Given the description of an element on the screen output the (x, y) to click on. 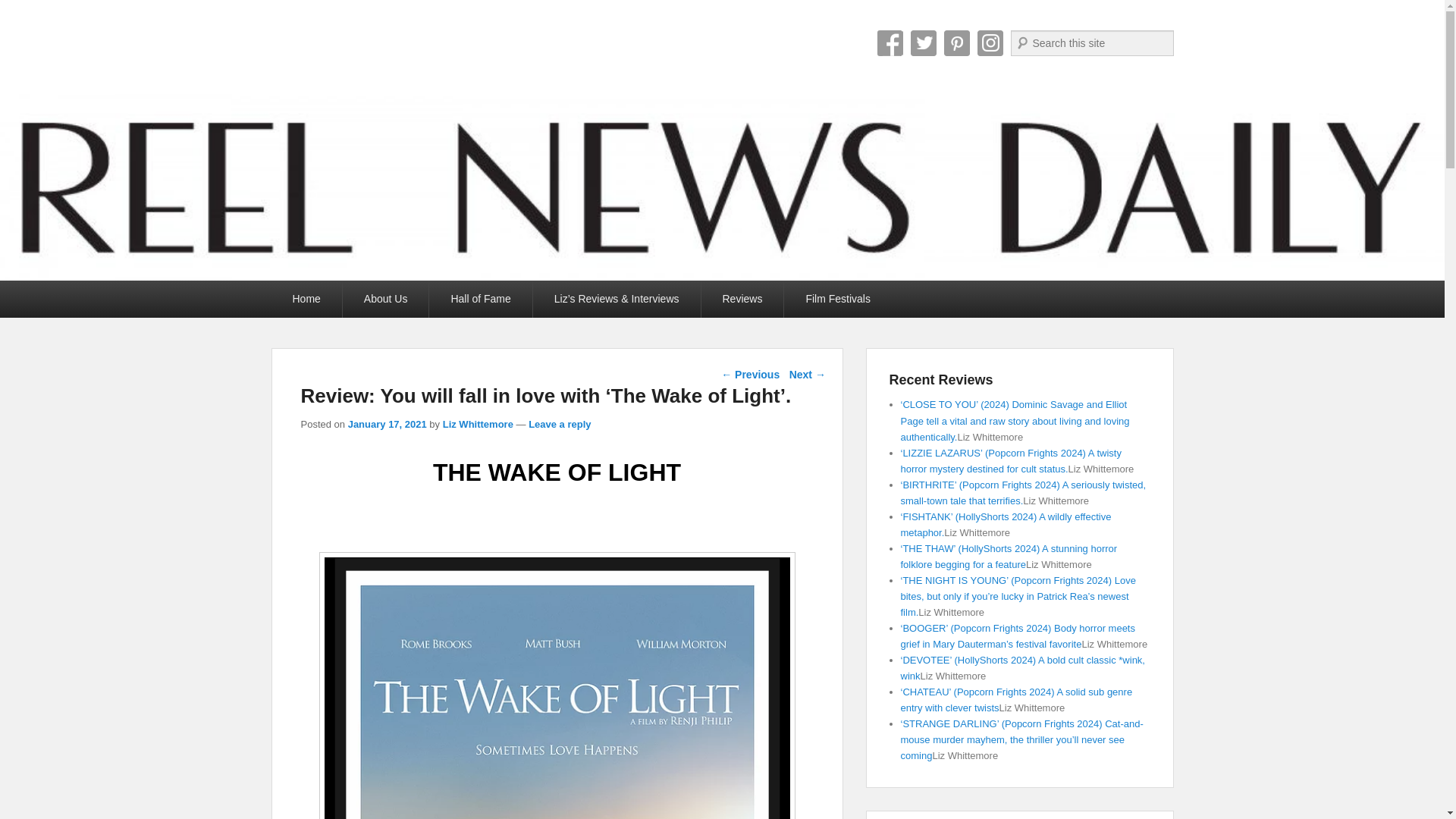
About Us (385, 298)
Instagram (989, 43)
9:56 pm (386, 423)
January 17, 2021 (386, 423)
Pinterest (956, 43)
Reviews (741, 298)
Home (306, 298)
Search (25, 9)
Film Festivals (837, 298)
Twitter (923, 43)
